Given the description of an element on the screen output the (x, y) to click on. 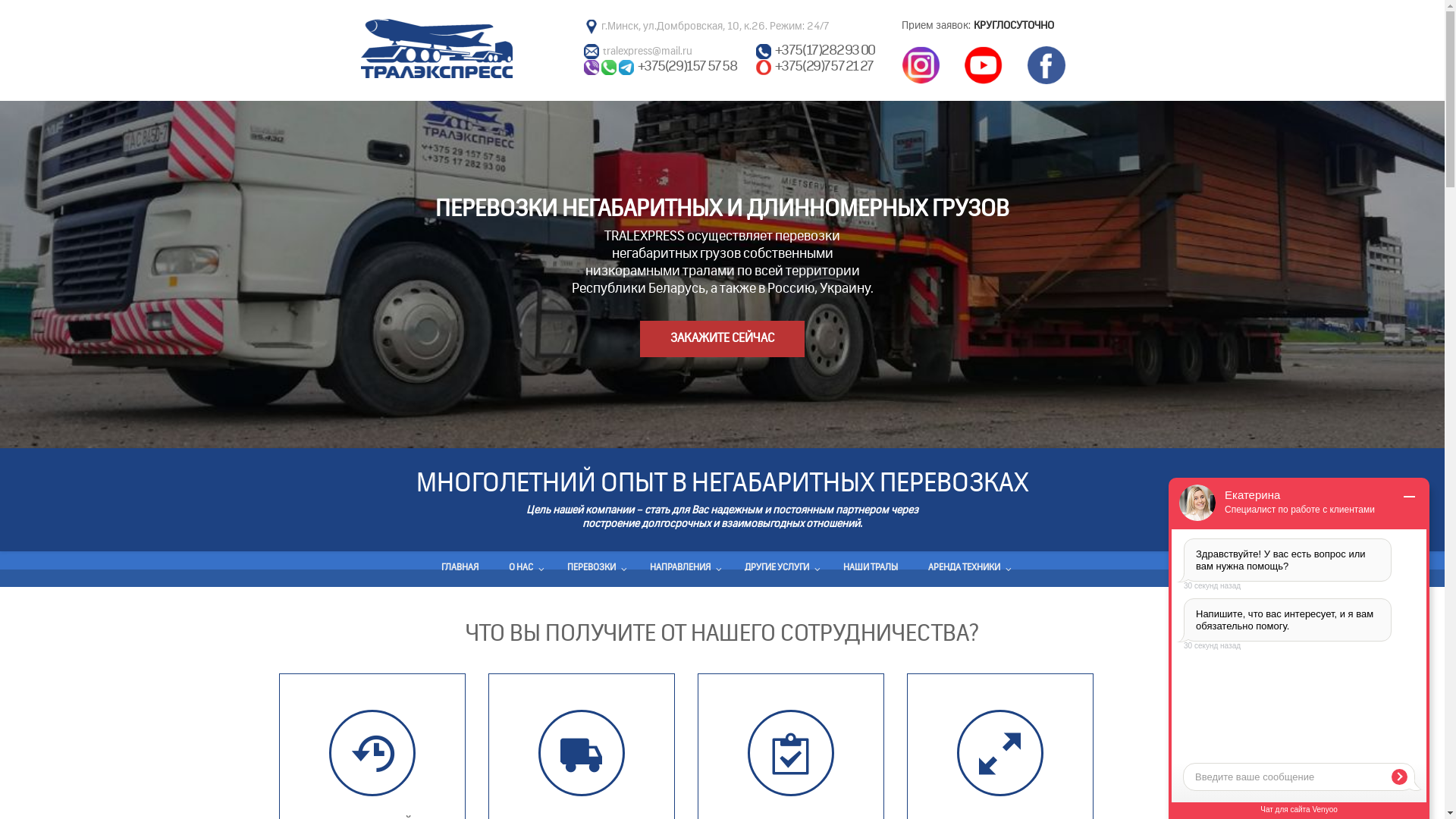
+375(29)157 57 58 Element type: text (686, 65)
tralexpress@mail.ru Element type: text (646, 51)
Viber Element type: hover (591, 67)
+375(17)282 93 00 Element type: text (825, 50)
Telegram Element type: hover (625, 67)
+375(29)757 21 27 Element type: text (824, 65)
Wacap Element type: hover (607, 67)
Facebook Element type: hover (1046, 65)
MTS Element type: hover (763, 67)
